Given the description of an element on the screen output the (x, y) to click on. 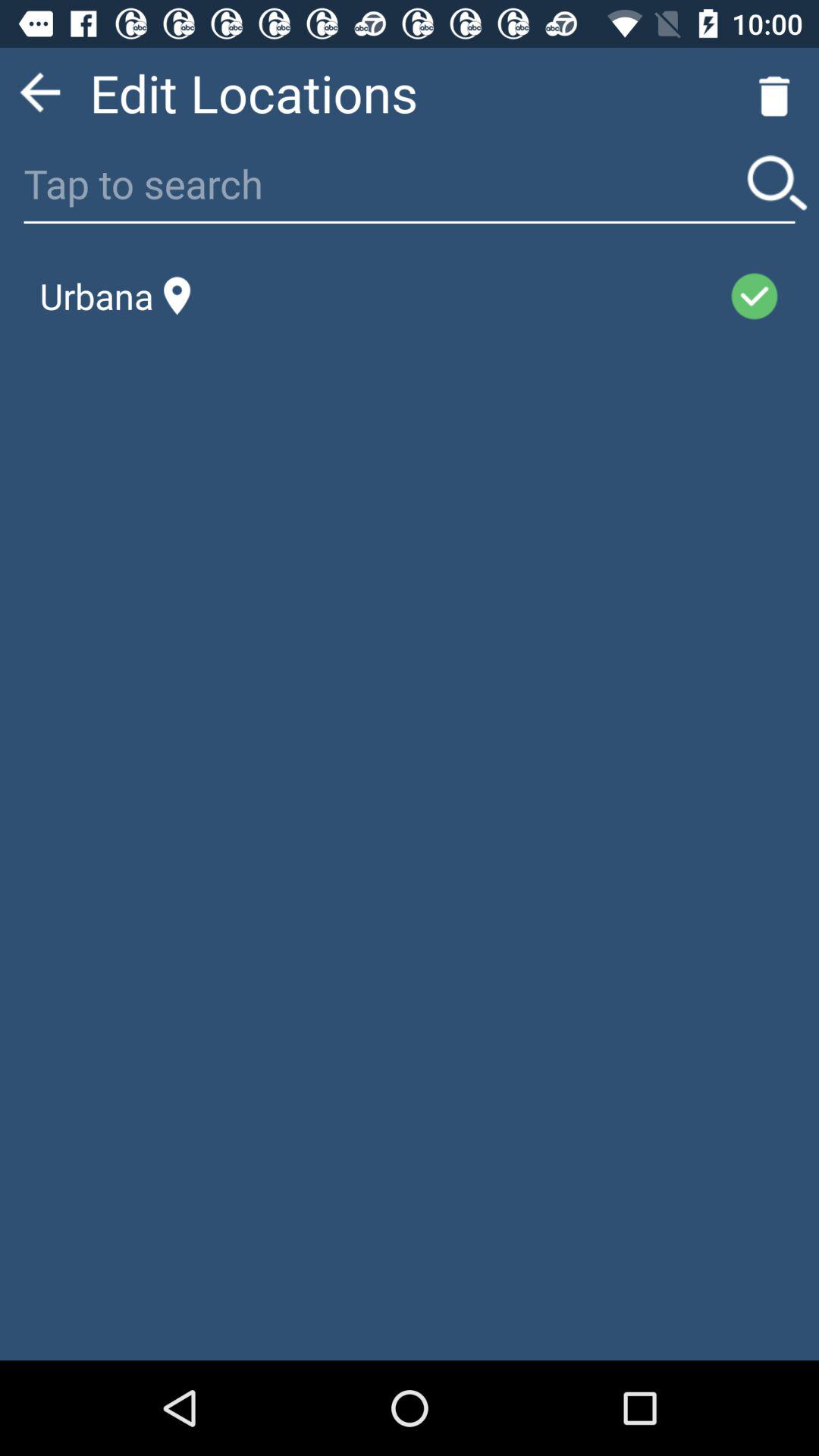
search for location (777, 183)
